Given the description of an element on the screen output the (x, y) to click on. 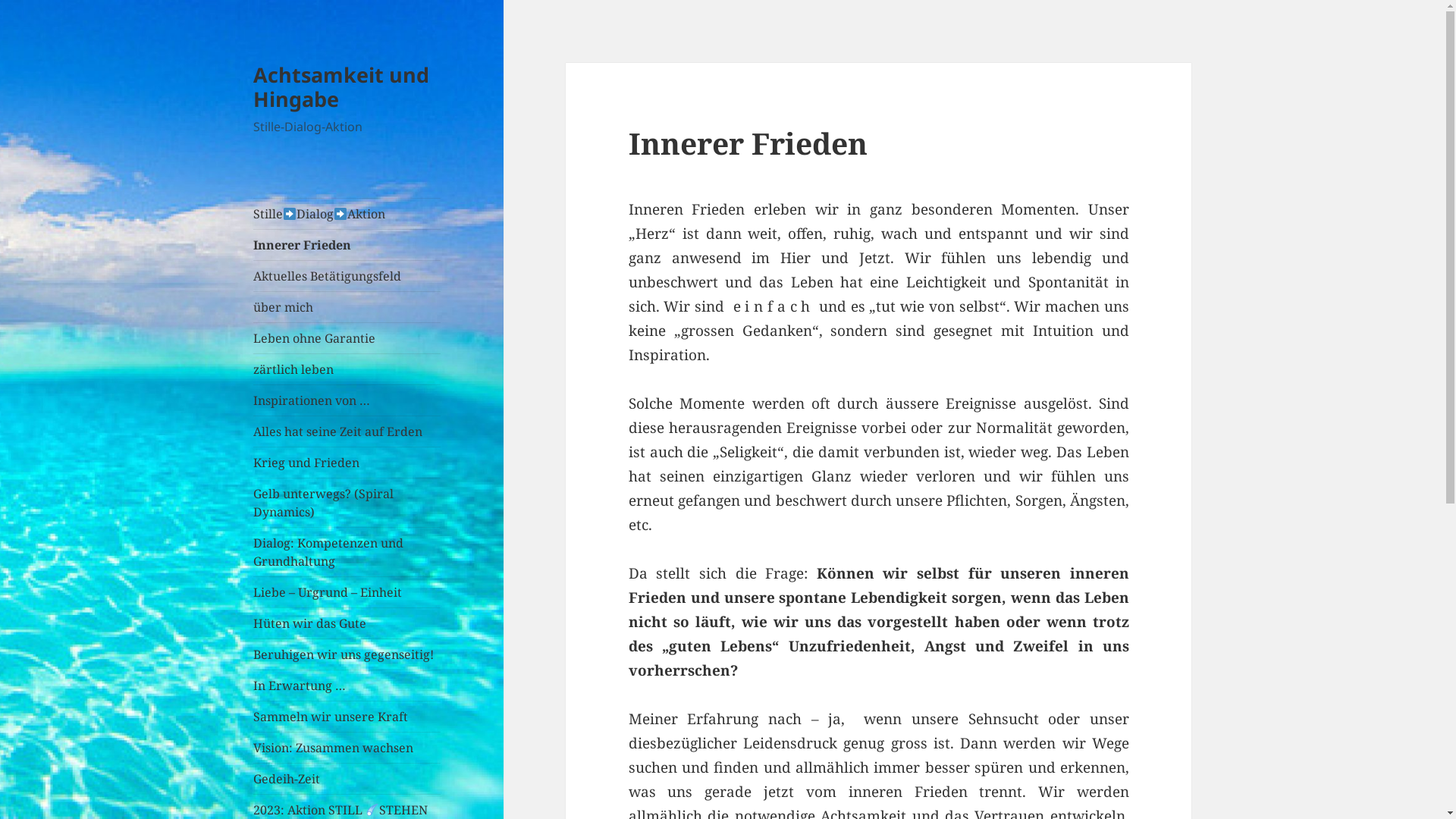
Gedeih-Zeit Element type: text (347, 778)
Sammeln wir unsere Kraft Element type: text (347, 716)
Achtsamkeit und Hingabe Element type: text (341, 86)
Alles hat seine Zeit auf Erden Element type: text (347, 431)
Dialog: Kompetenzen und Grundhaltung Element type: text (347, 551)
Innerer Frieden Element type: text (347, 244)
Beruhigen wir uns gegenseitig! Element type: text (347, 654)
Krieg und Frieden Element type: text (347, 462)
Gelb unterwegs? (Spiral Dynamics) Element type: text (347, 502)
StilleDialogAktion Element type: text (347, 213)
Leben ohne Garantie Element type: text (347, 338)
Vision: Zusammen wachsen Element type: text (347, 747)
